Given the description of an element on the screen output the (x, y) to click on. 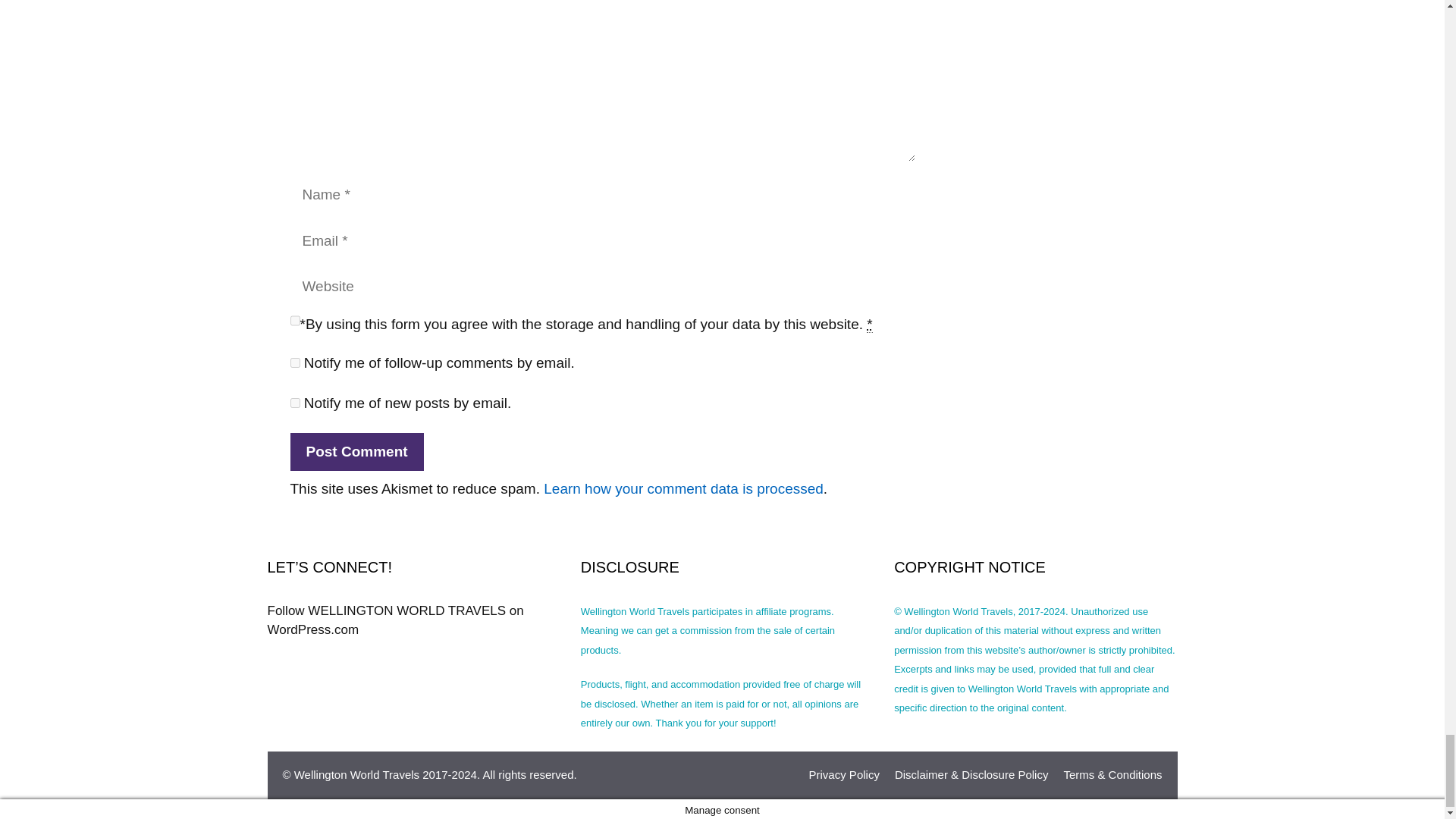
subscribe (294, 402)
subscribe (294, 362)
Post Comment (356, 452)
